Given the description of an element on the screen output the (x, y) to click on. 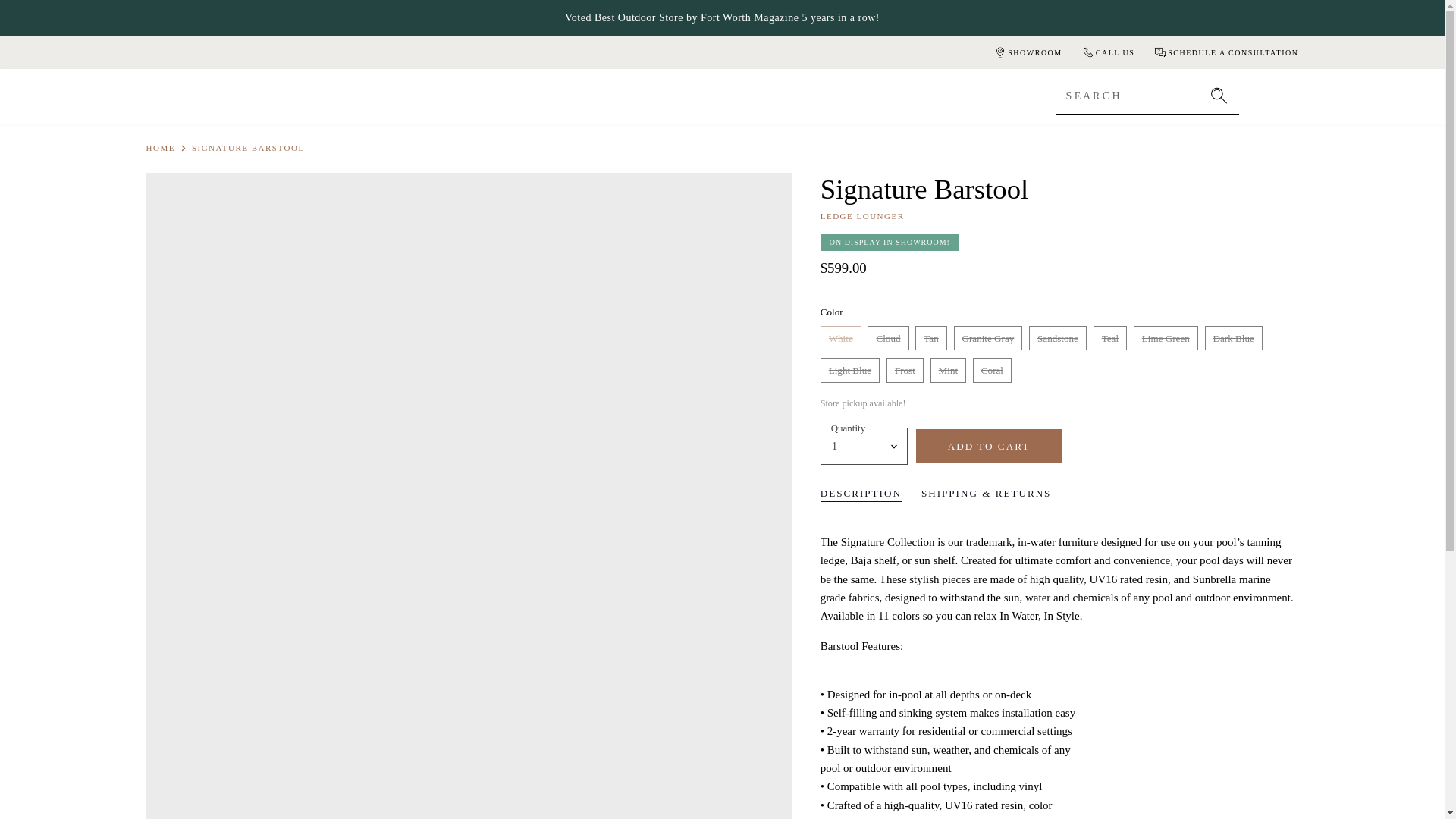
SHOWROOM (1026, 52)
Ledge Lounger (862, 215)
SCHEDULE A CONSULTATION (1225, 52)
CALL US (1107, 52)
